Given the description of an element on the screen output the (x, y) to click on. 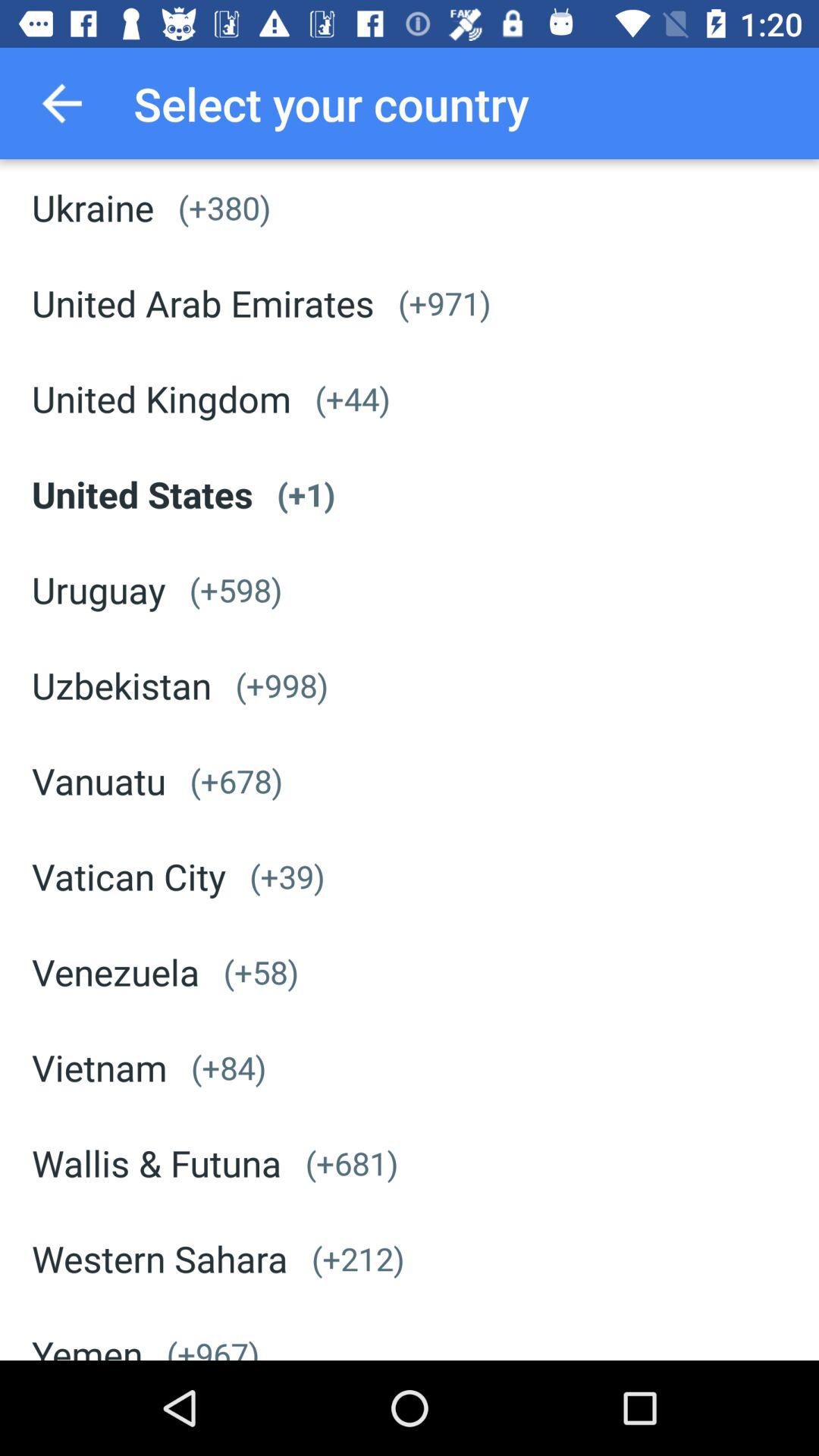
click icon above wallis & futuna item (228, 1067)
